Given the description of an element on the screen output the (x, y) to click on. 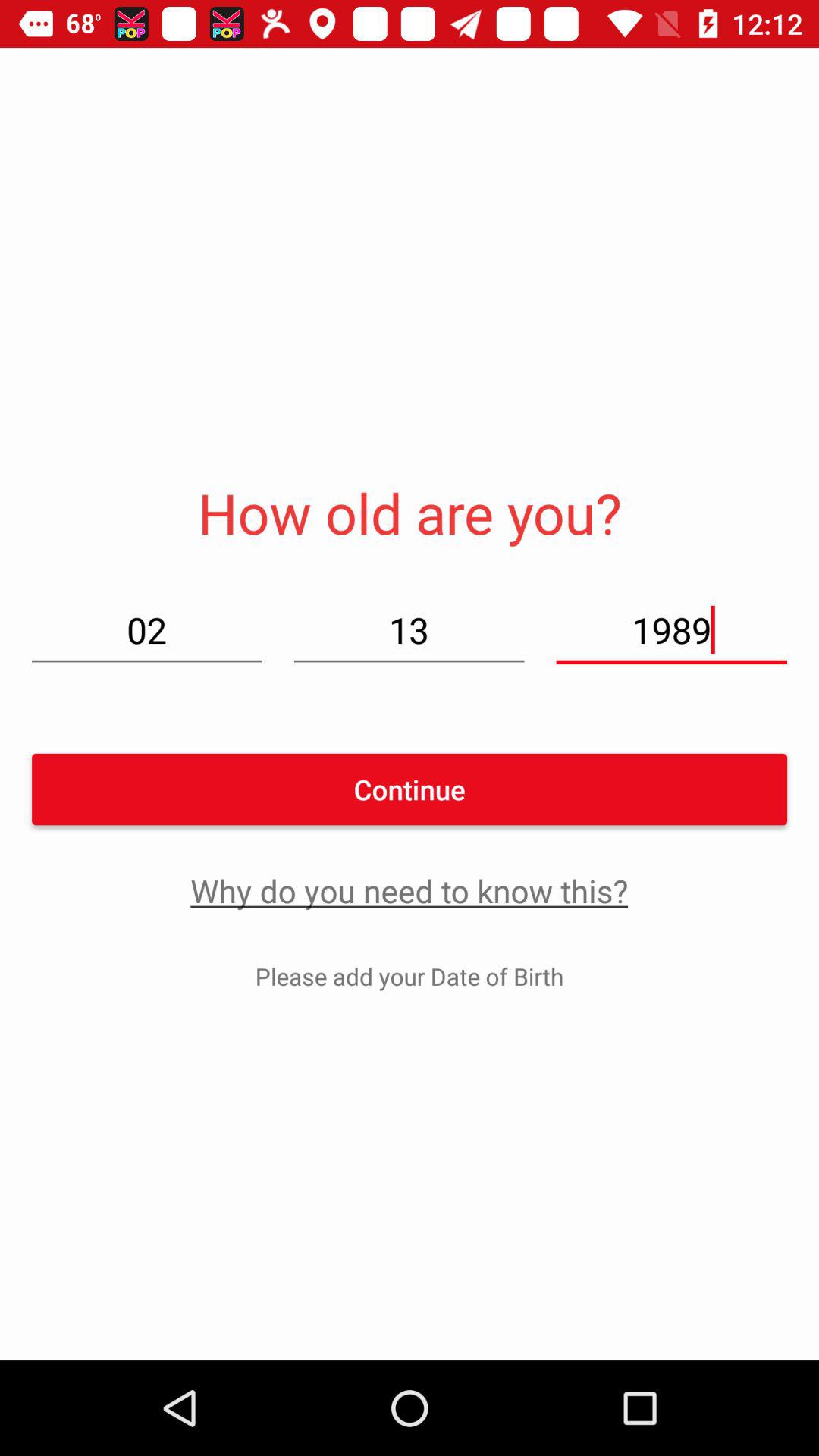
scroll until 1989 icon (671, 629)
